Given the description of an element on the screen output the (x, y) to click on. 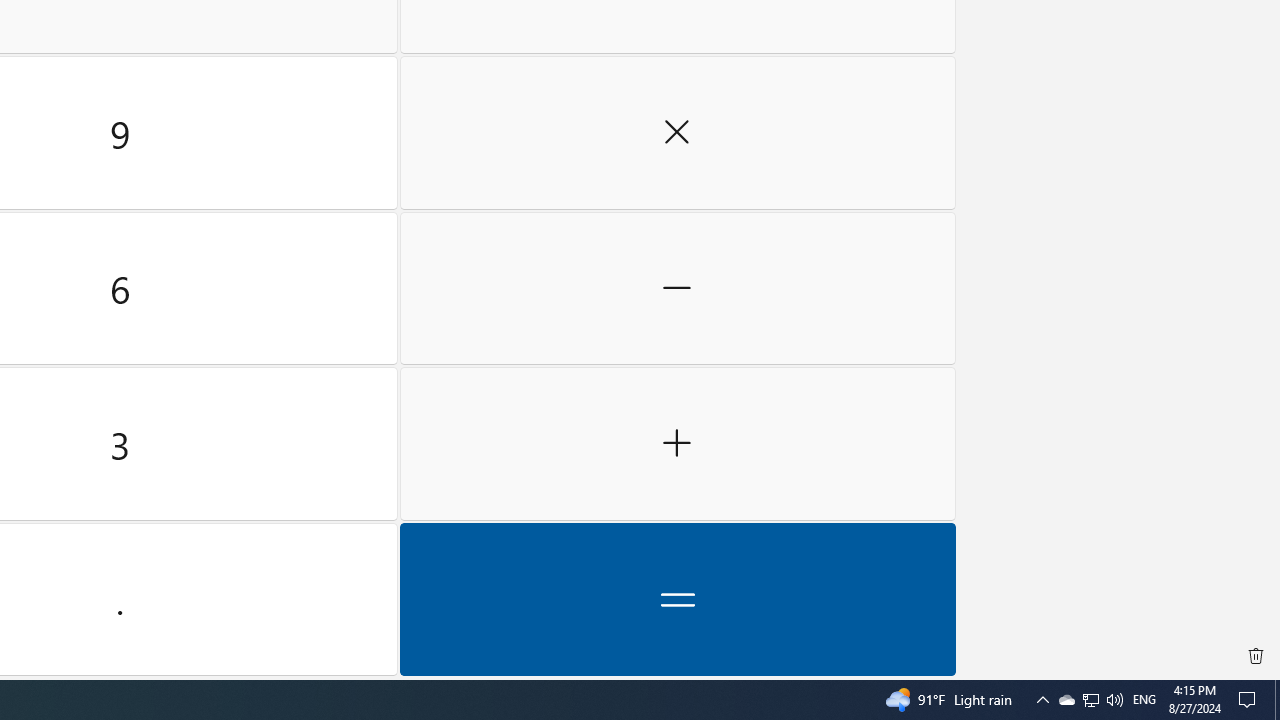
Clear all history (1256, 655)
Multiply by (677, 133)
Equals (677, 599)
Minus (677, 288)
Plus (677, 444)
